Given the description of an element on the screen output the (x, y) to click on. 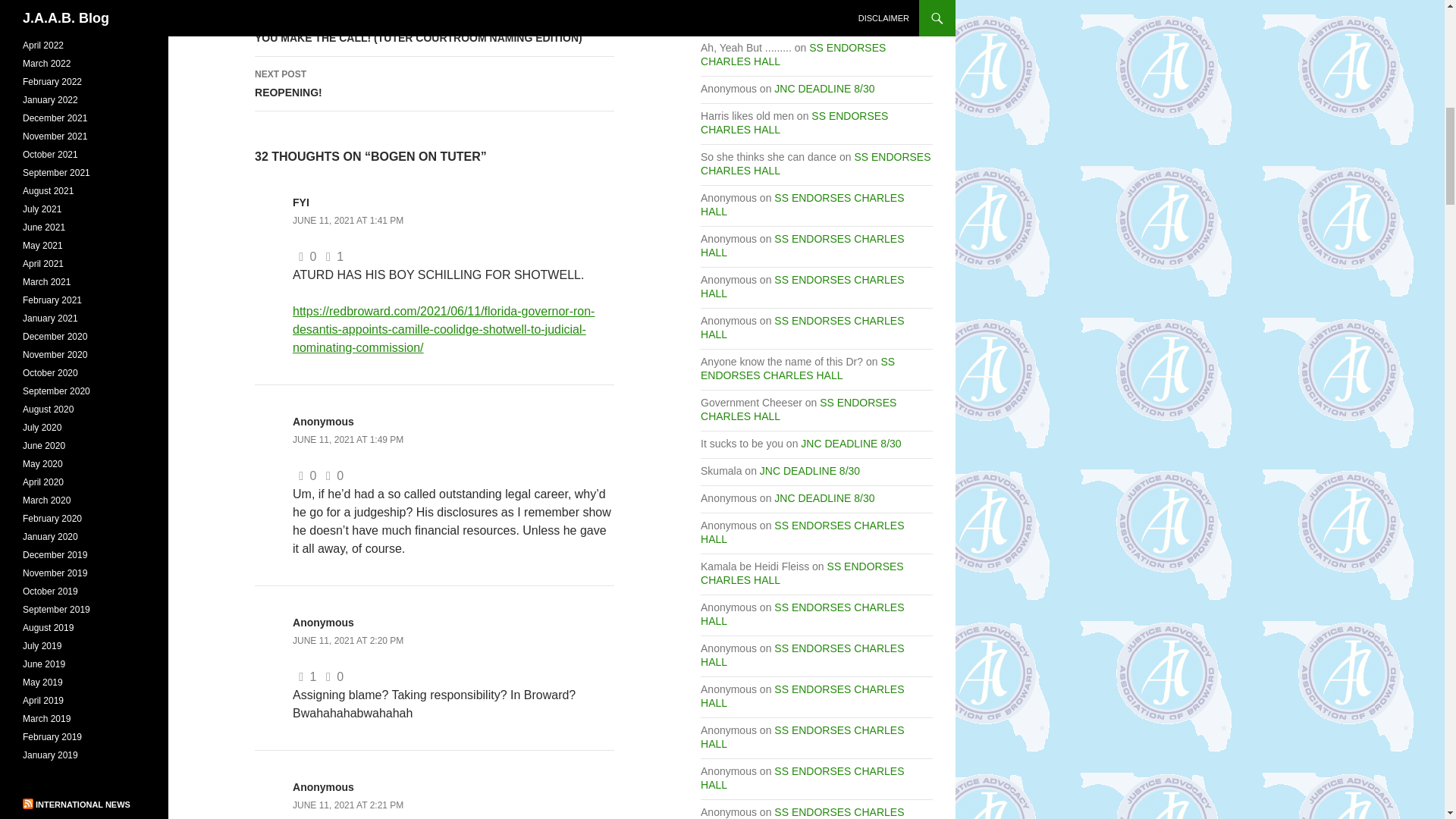
JUNE 11, 2021 AT 2:21 PM (347, 805)
JUNE 11, 2021 AT 2:20 PM (347, 640)
JUNE 11, 2021 AT 1:49 PM (347, 439)
JUNE 11, 2021 AT 1:41 PM (434, 83)
